Given the description of an element on the screen output the (x, y) to click on. 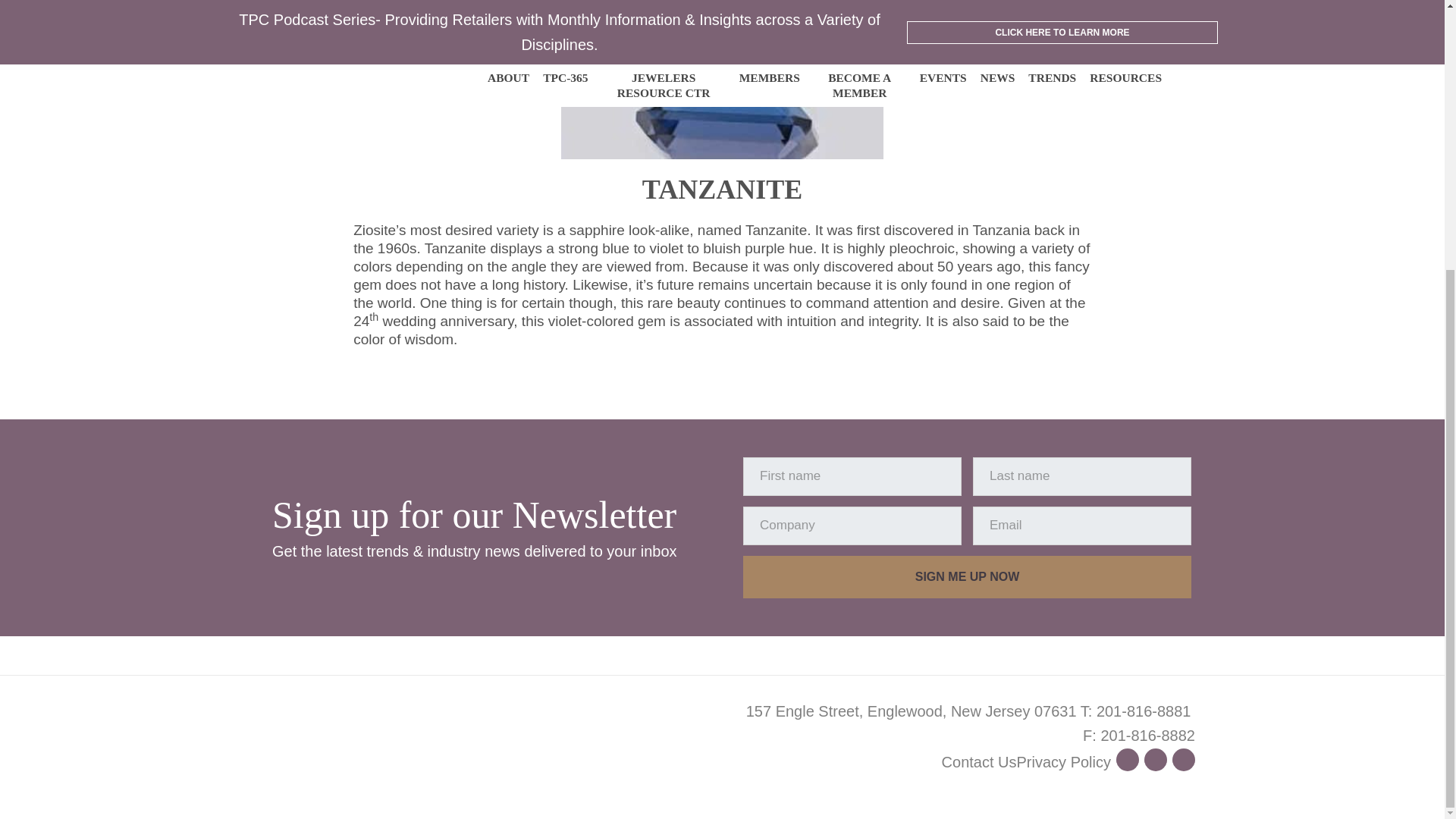
201-816-8881 (1143, 710)
SIGN ME UP NOW (966, 577)
Privacy Policy (1063, 761)
Contact Us (979, 761)
